Given the description of an element on the screen output the (x, y) to click on. 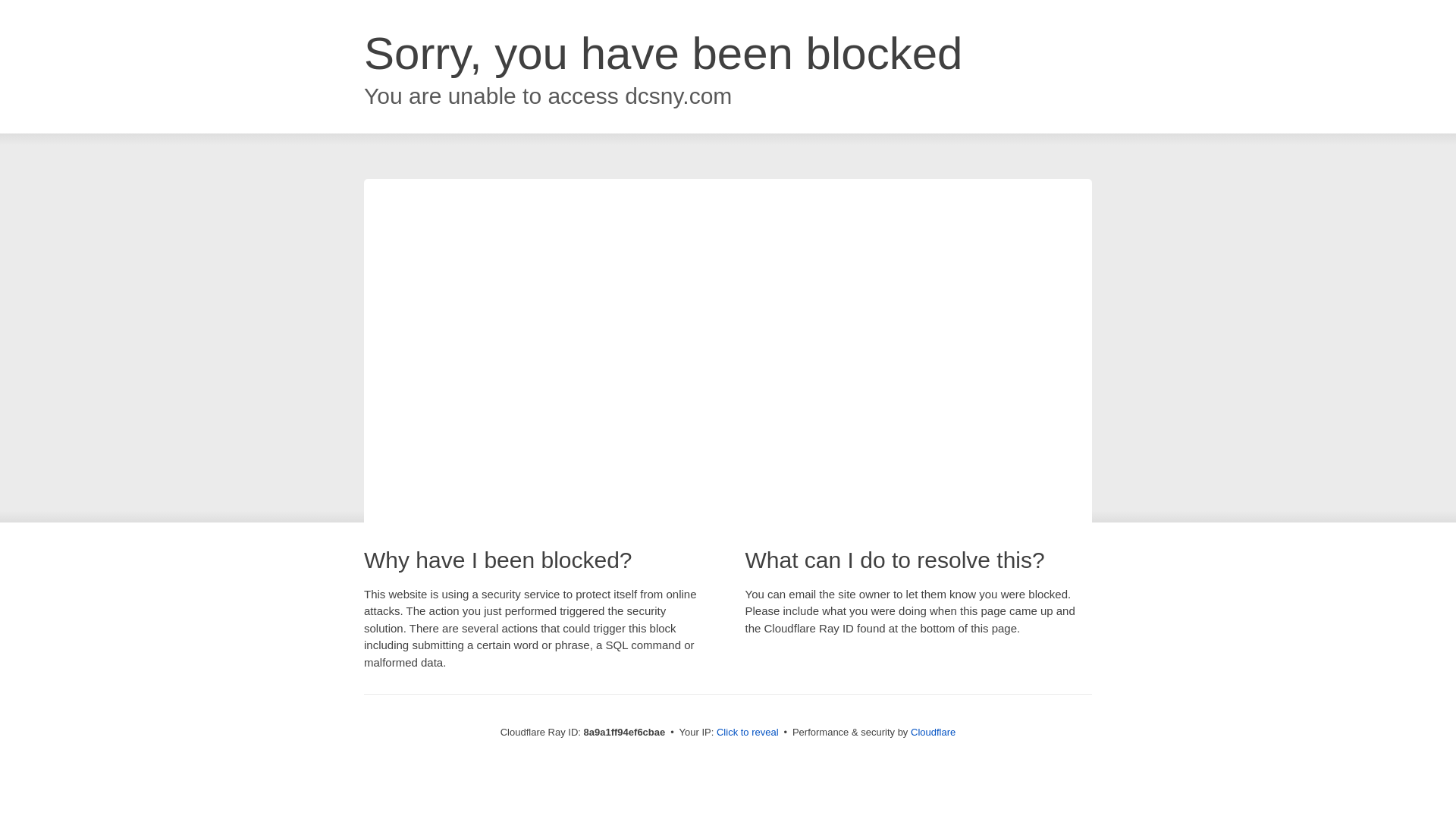
Click to reveal (747, 732)
Cloudflare (933, 731)
